Given the description of an element on the screen output the (x, y) to click on. 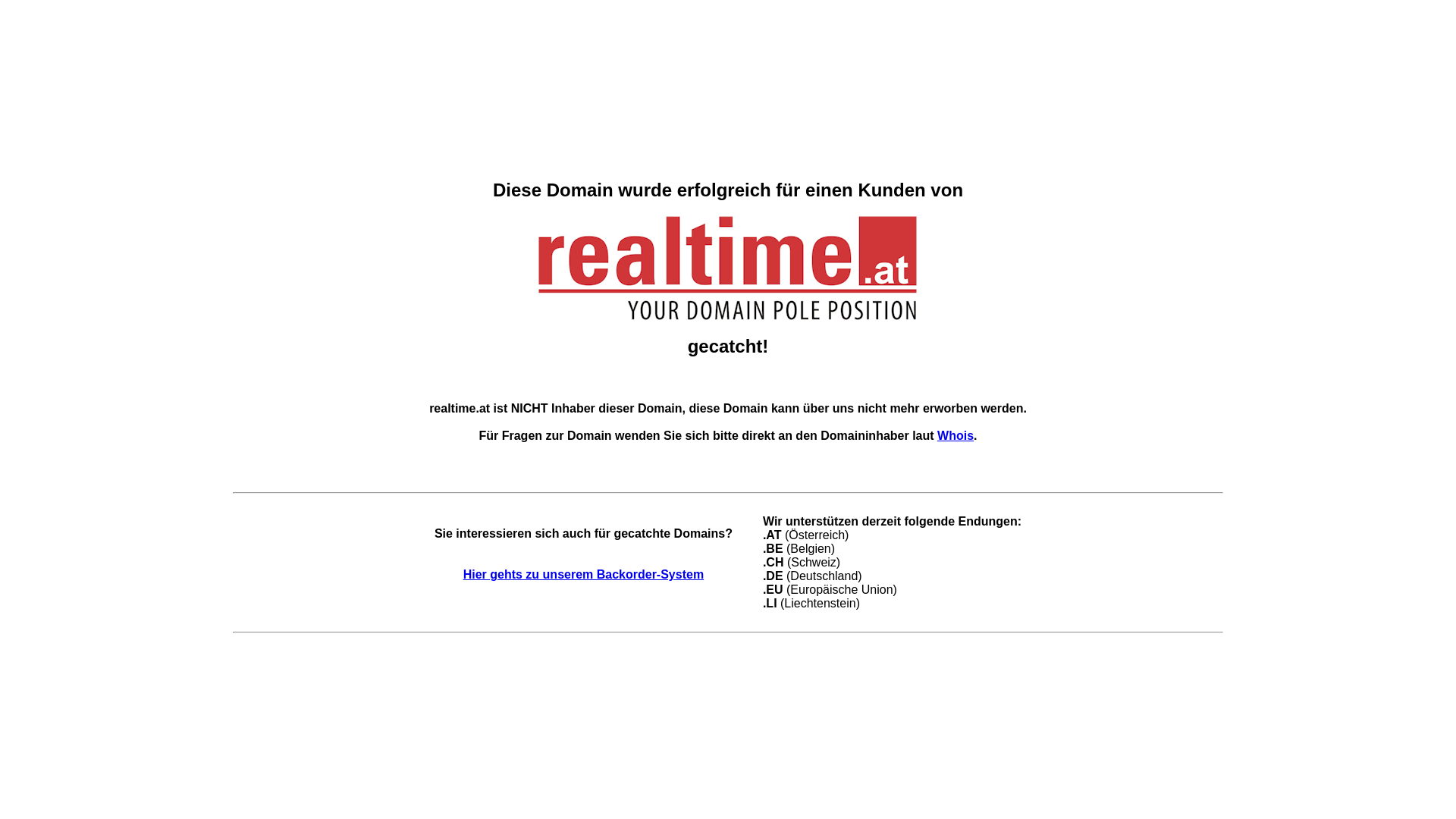
Hier gehts zu unserem Backorder-System Element type: text (583, 573)
Whois Element type: text (955, 435)
